Given the description of an element on the screen output the (x, y) to click on. 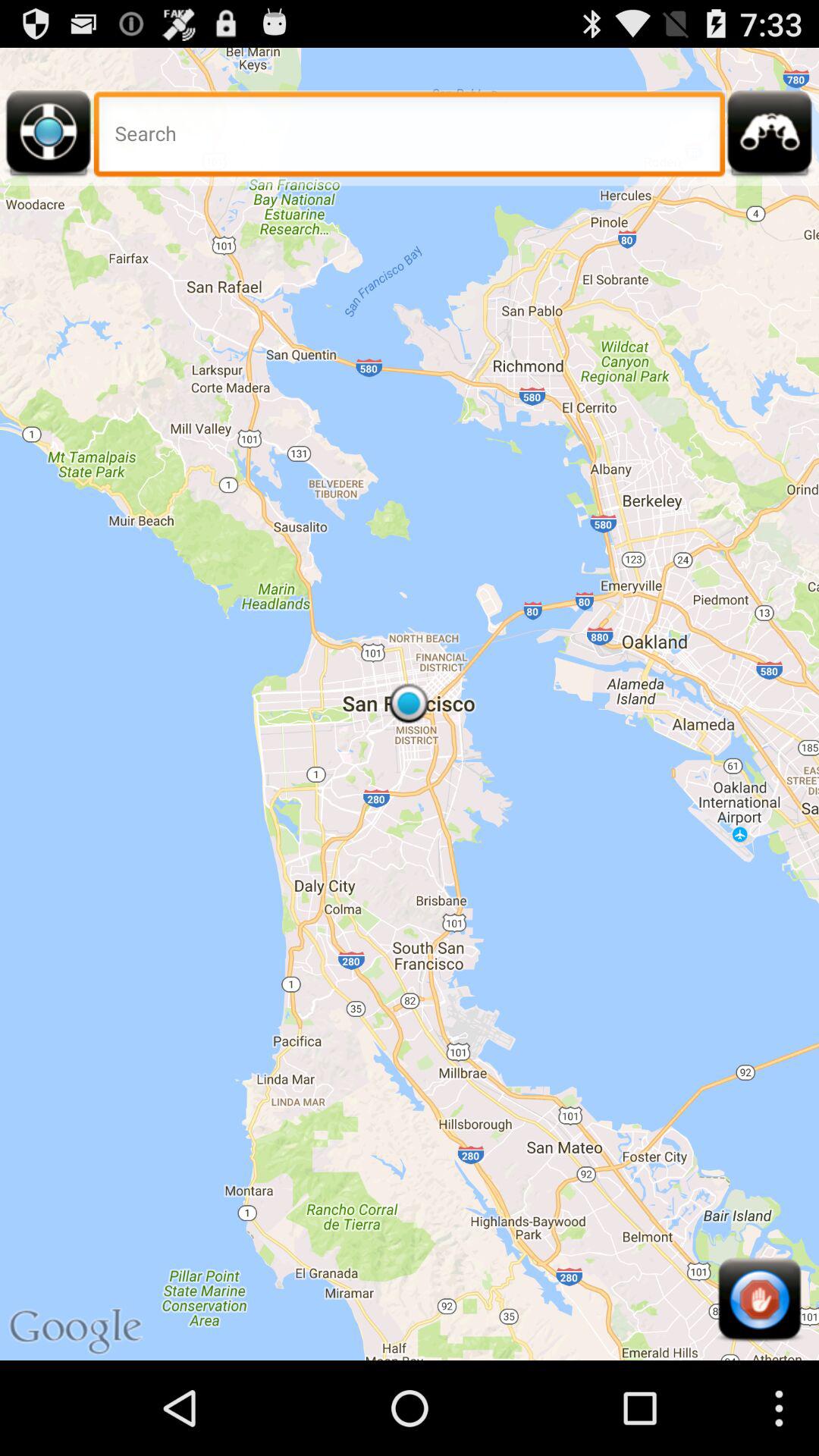
choose the icon at the top right corner (770, 137)
